Given the description of an element on the screen output the (x, y) to click on. 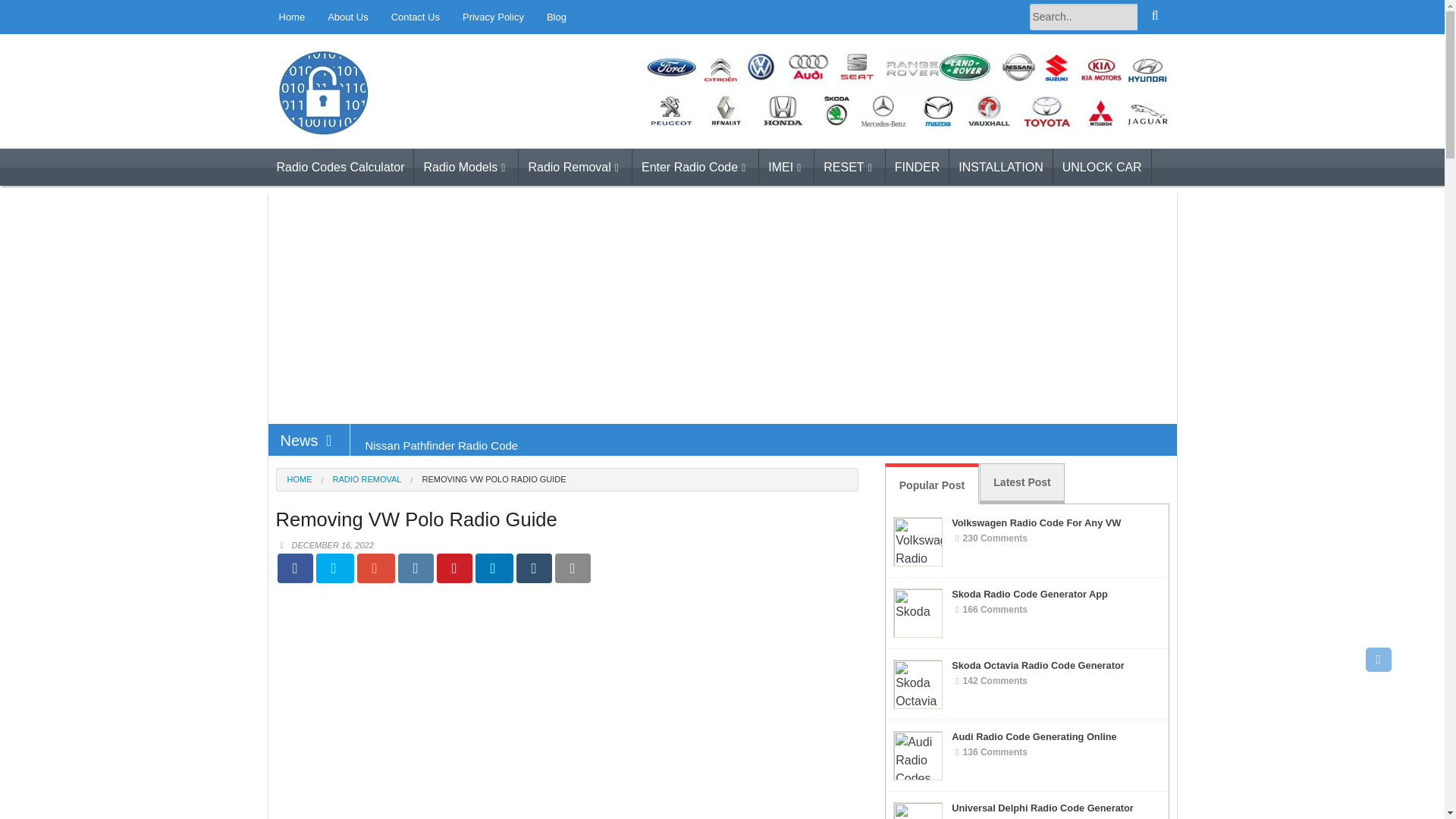
Contact Us (415, 17)
Radio Models (465, 167)
Radio Codes Calculator (394, 154)
Go (1155, 17)
Nissan Pathfinder Radio Code (441, 444)
Go (1155, 17)
Radio Codes Calculator (339, 167)
About Us (346, 17)
Blog (556, 17)
Privacy Policy (493, 17)
Home (290, 17)
